Given the description of an element on the screen output the (x, y) to click on. 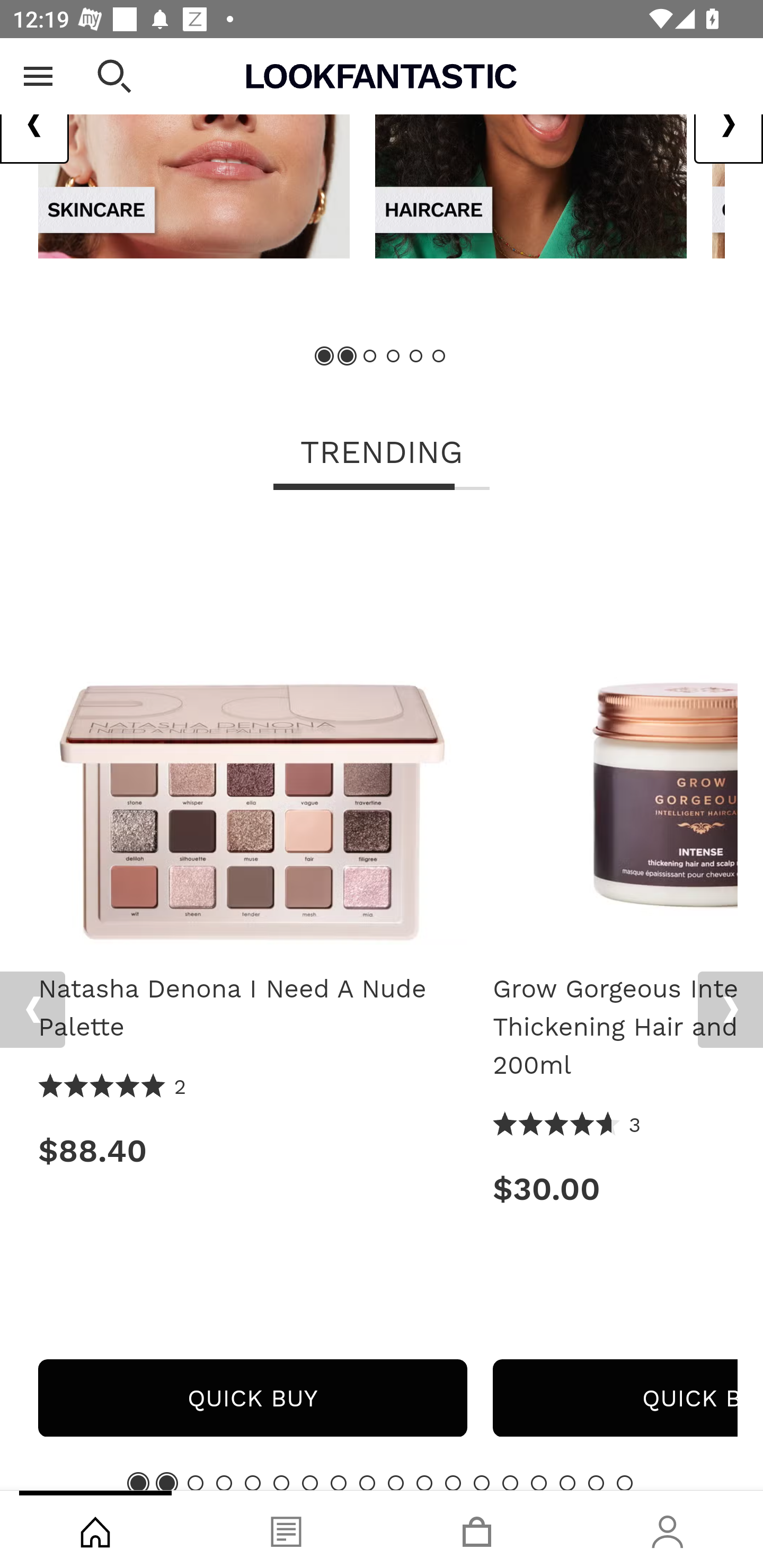
Previous (35, 124)
Next (727, 124)
Showing Slide 1 (Current Item) (324, 356)
Showing Slide 2 (Current Item) (347, 356)
Slide 3 (369, 356)
Slide 4 (393, 356)
Slide 5 (415, 356)
Slide 6 (437, 356)
TRENDING (381, 454)
Natasha Denona I Need A Nude Palette (252, 736)
Natasha Denona I Need A Nude Palette (252, 1007)
Previous (32, 1009)
Next (730, 1009)
5.0 Stars 2 Reviews (112, 1086)
4.67 Stars 3 Reviews (567, 1125)
Price: $88.40 (252, 1151)
Price: $30.00 (614, 1189)
QUICK BUY NATASHA DENONA I NEED A NUDE PALETTE (252, 1398)
Showing Slide 1 (Current Item) (138, 1483)
Showing Slide 2 (Current Item) (166, 1483)
Slide 3 (195, 1483)
Slide 4 (223, 1483)
Slide 5 (252, 1483)
Slide 6 (281, 1483)
Slide 7 (310, 1483)
Slide 8 (338, 1483)
Slide 9 (367, 1483)
Slide 10 (395, 1483)
Slide 11 (424, 1483)
Slide 12 (452, 1483)
Slide 13 (481, 1483)
Slide 14 (510, 1483)
Slide 15 (539, 1483)
Slide 16 (567, 1483)
Slide 17 (596, 1483)
Slide 18 (624, 1483)
Shop, tab, 1 of 4 (95, 1529)
Blog, tab, 2 of 4 (285, 1529)
Basket, tab, 3 of 4 (476, 1529)
Account, tab, 4 of 4 (667, 1529)
